Given the description of an element on the screen output the (x, y) to click on. 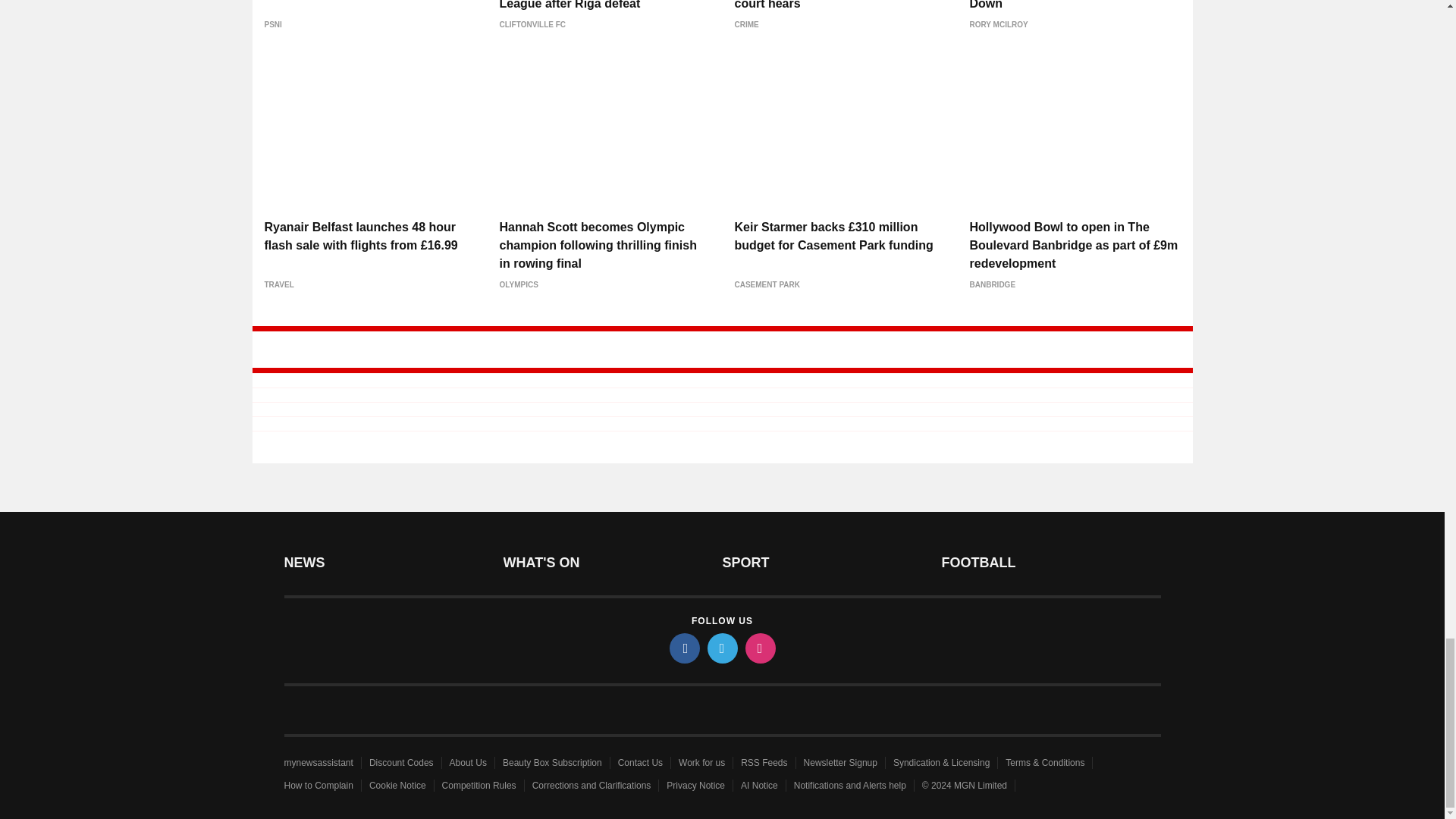
twitter (721, 648)
facebook (683, 648)
instagram (759, 648)
